Given the description of an element on the screen output the (x, y) to click on. 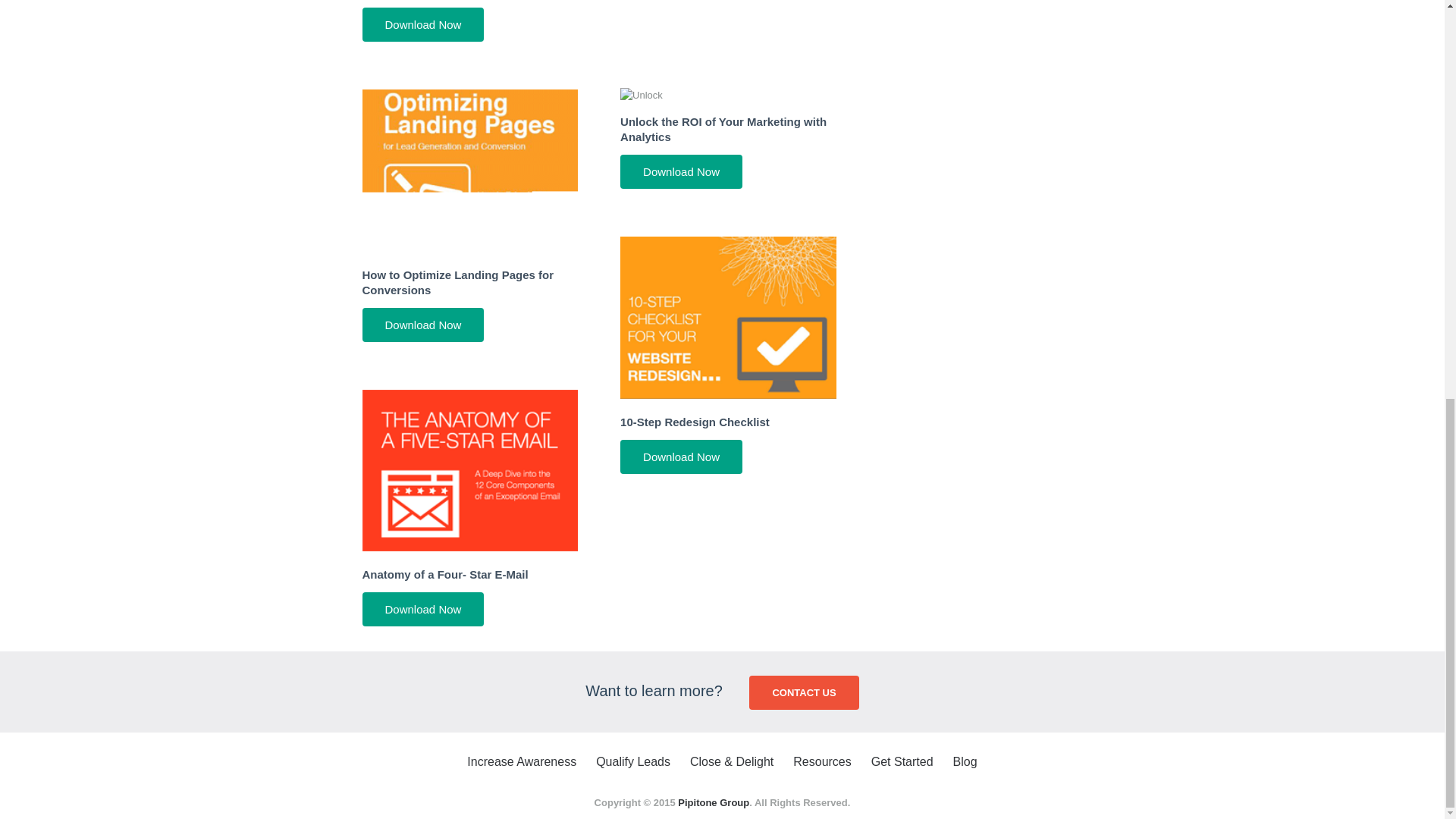
Resources (821, 761)
Five-Star (470, 451)
Qualify Leads (632, 761)
Landing (470, 150)
Increase Awareness (521, 761)
Blog (964, 761)
CONTACT US (804, 692)
Download Now (423, 24)
Checklist (727, 298)
Download Now (423, 609)
